Given the description of an element on the screen output the (x, y) to click on. 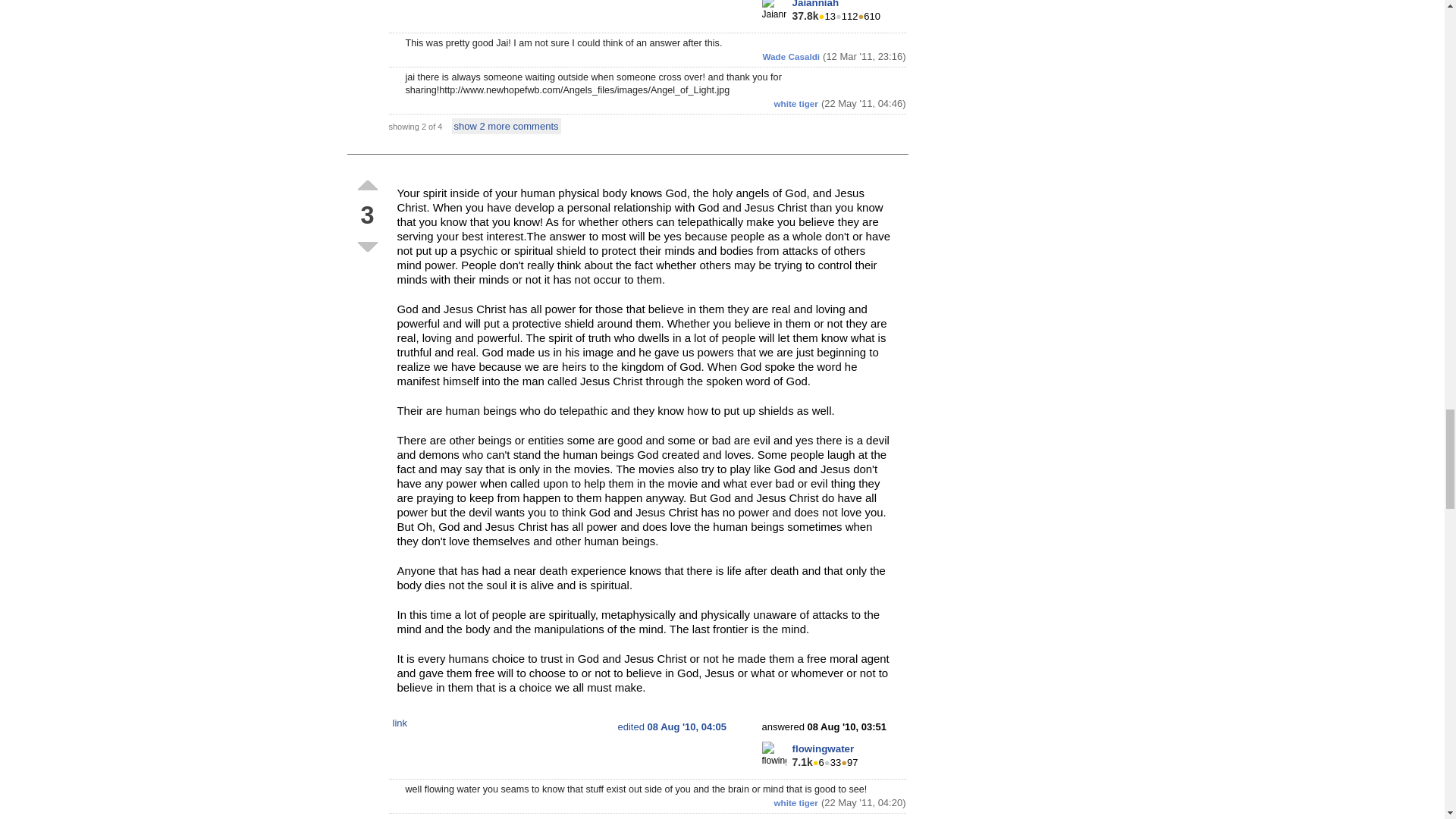
Jaianniah (815, 4)
13 badges (826, 16)
Wade Casaldi (791, 56)
37805 karma (805, 15)
